Given the description of an element on the screen output the (x, y) to click on. 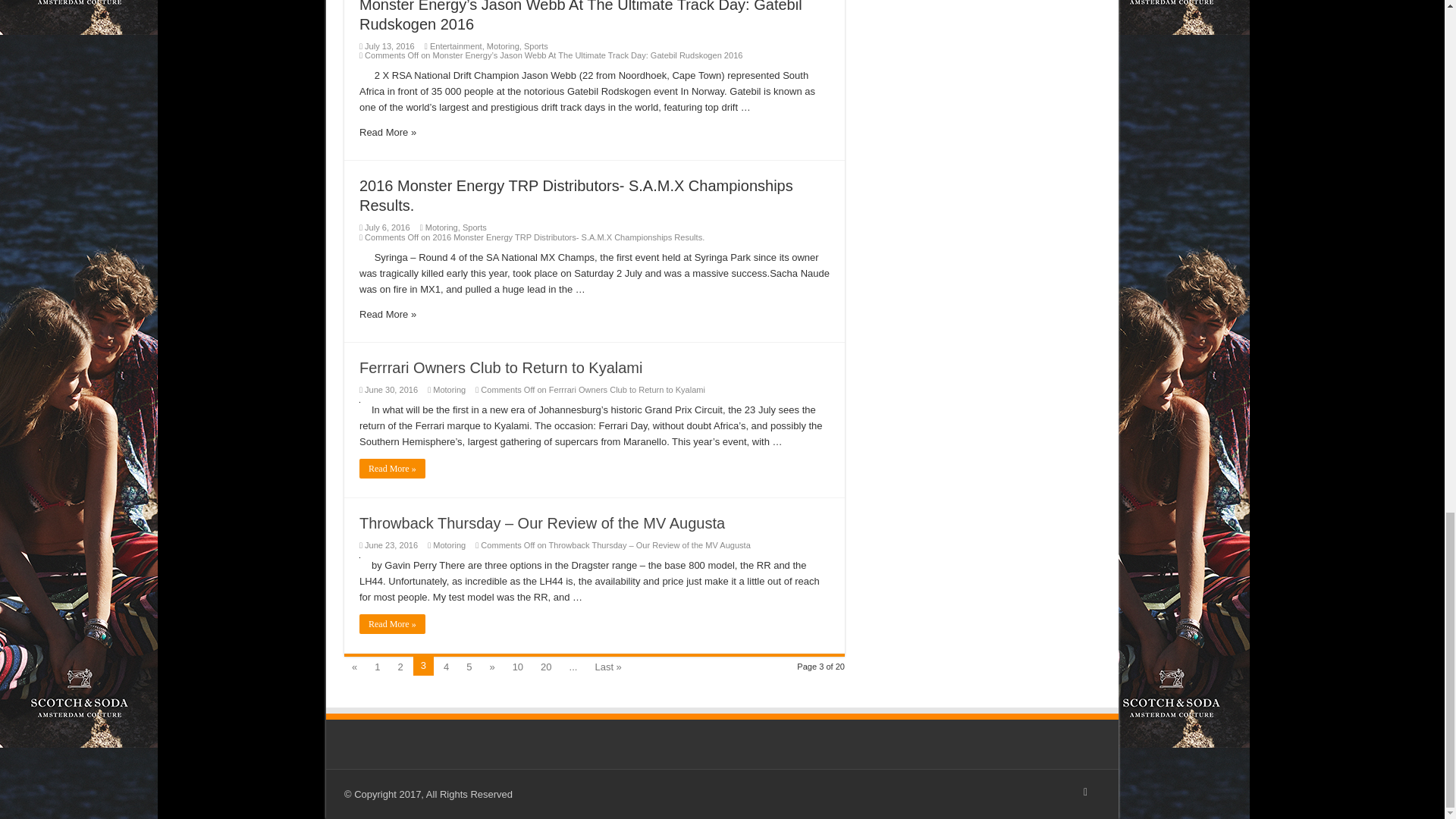
2 (400, 665)
4 (446, 665)
10 (518, 665)
1 (376, 665)
5 (468, 665)
